Given the description of an element on the screen output the (x, y) to click on. 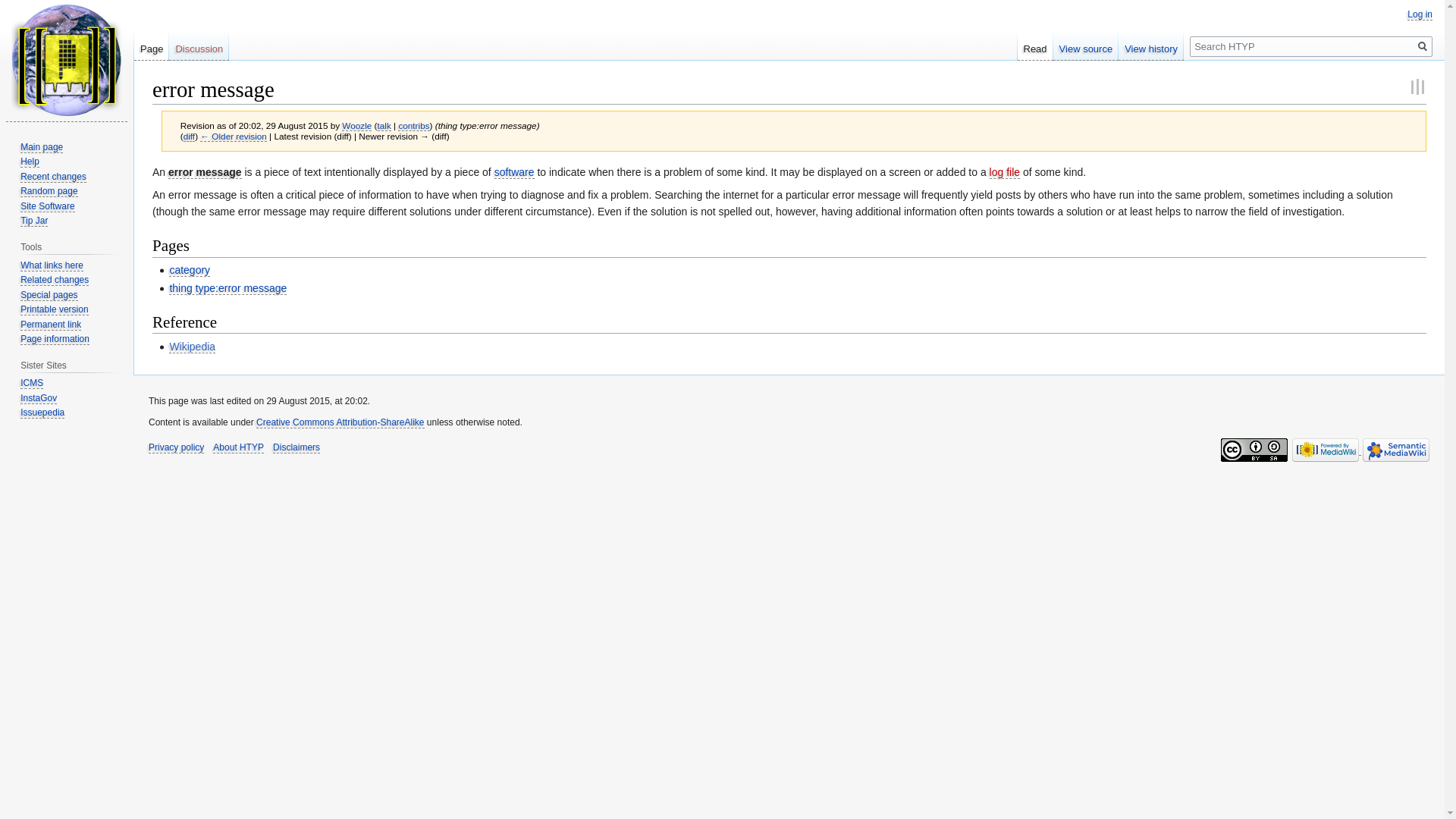
Random page (48, 191)
User:Woozle (356, 125)
software (514, 172)
Printable version (53, 309)
diff (189, 136)
error message (189, 136)
Search (1422, 46)
software (514, 172)
talk (384, 125)
Tip Jar (34, 220)
InstaGov (38, 398)
error message (204, 172)
Special pages (48, 295)
Help (29, 161)
Recent changes (52, 176)
